Given the description of an element on the screen output the (x, y) to click on. 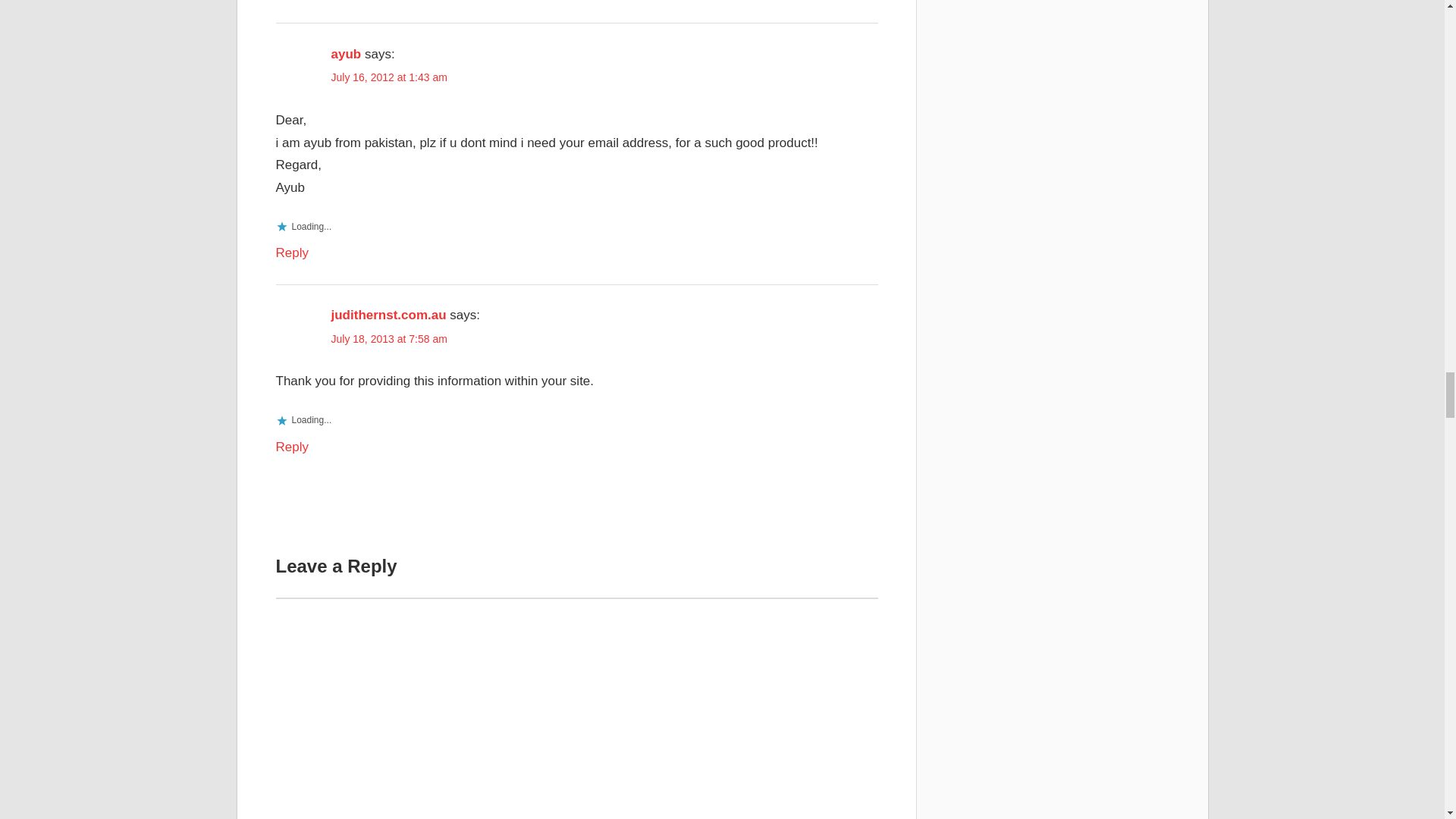
Comment Form (576, 708)
